Given the description of an element on the screen output the (x, y) to click on. 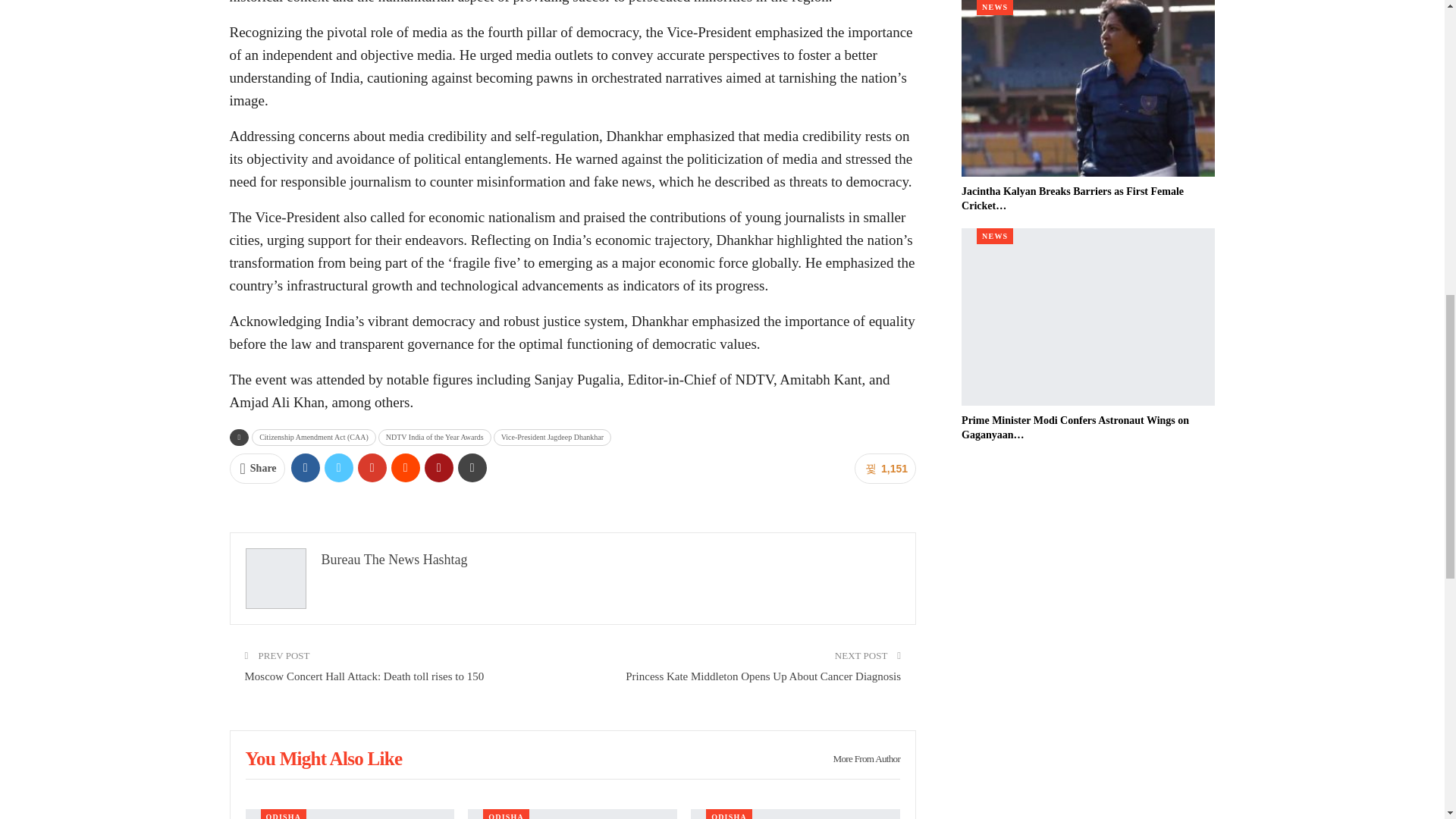
Vice-President Jagdeep Dhankhar (552, 437)
NDTV India of the Year Awards (435, 437)
